Given the description of an element on the screen output the (x, y) to click on. 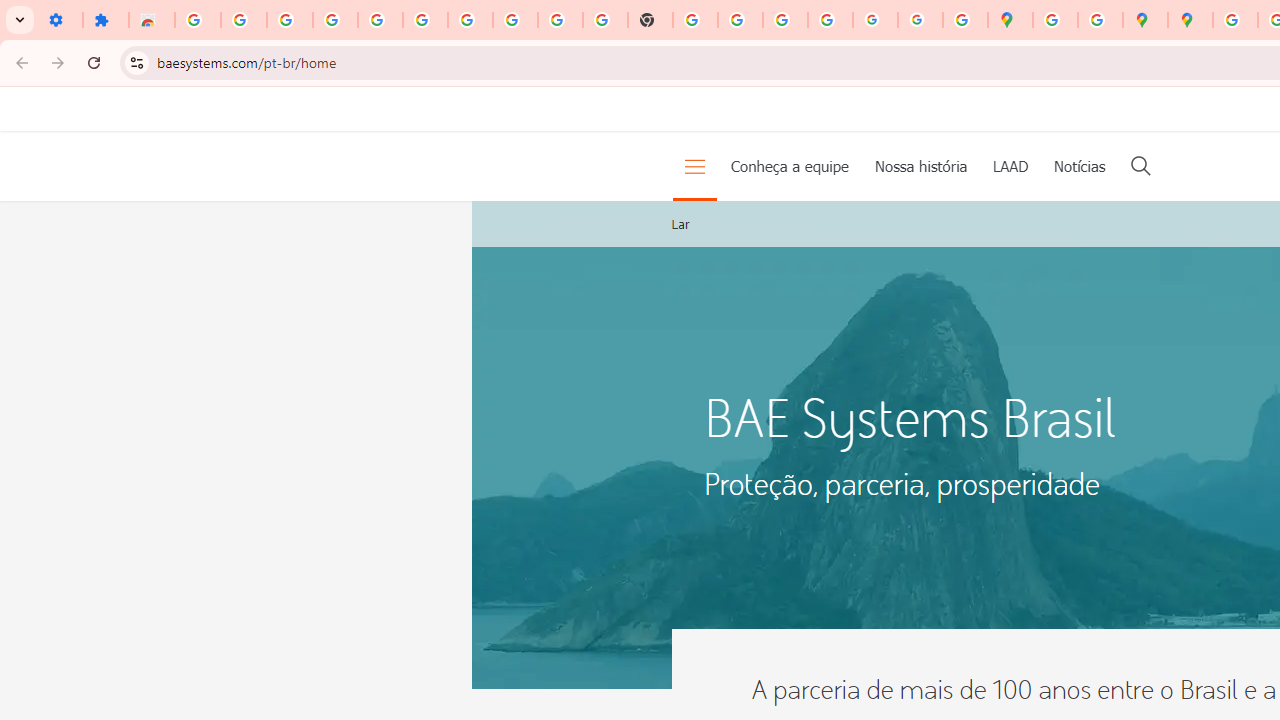
New Tab (650, 20)
YouTube (559, 20)
Sign in - Google Accounts (198, 20)
Safety in Our Products - Google Safety Center (1099, 20)
LAAD (1010, 165)
Reviews: Helix Fruit Jump Arcade Game (152, 20)
